Given the description of an element on the screen output the (x, y) to click on. 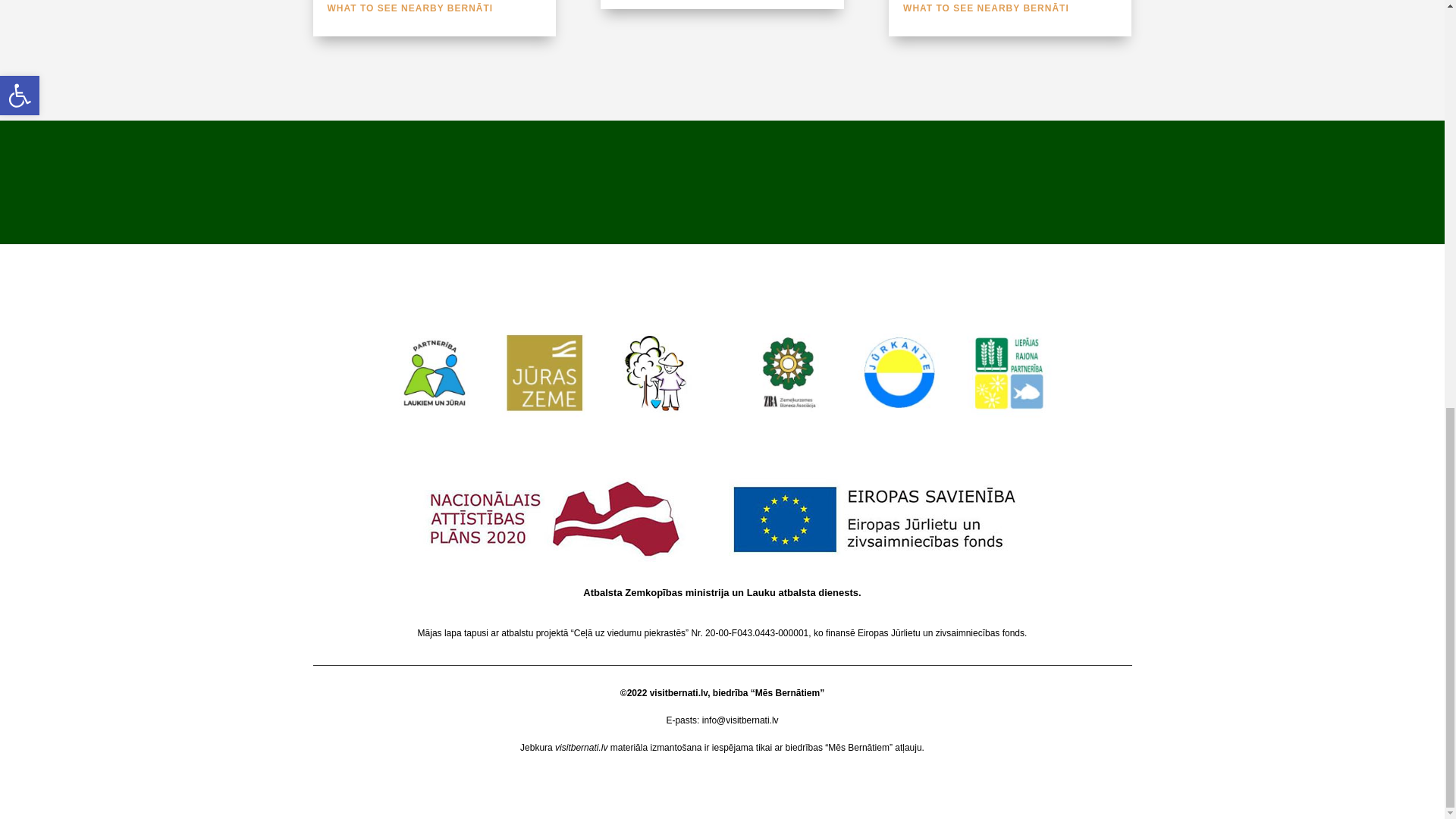
logo-footer-2 (899, 370)
logo-footer-1 (545, 370)
